Given the description of an element on the screen output the (x, y) to click on. 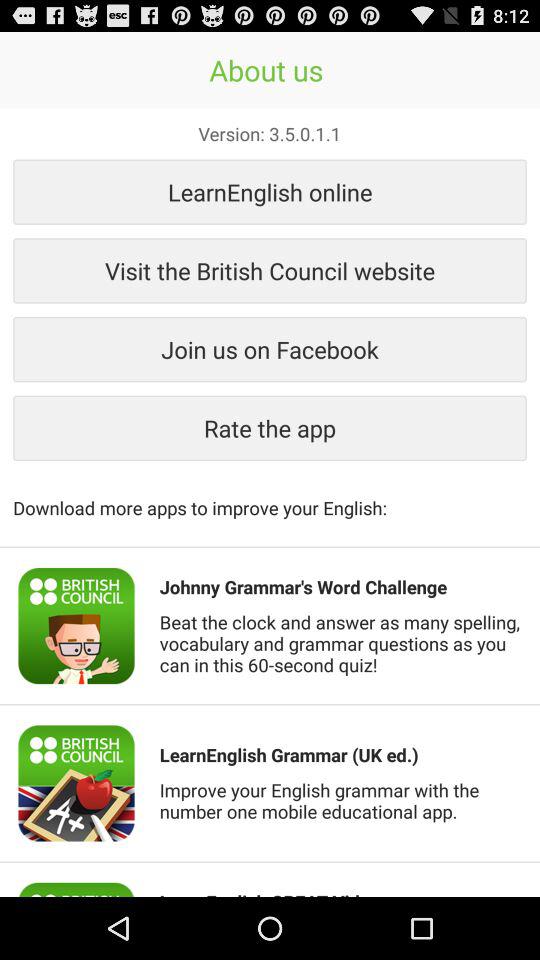
turn off the join us on item (269, 349)
